Given the description of an element on the screen output the (x, y) to click on. 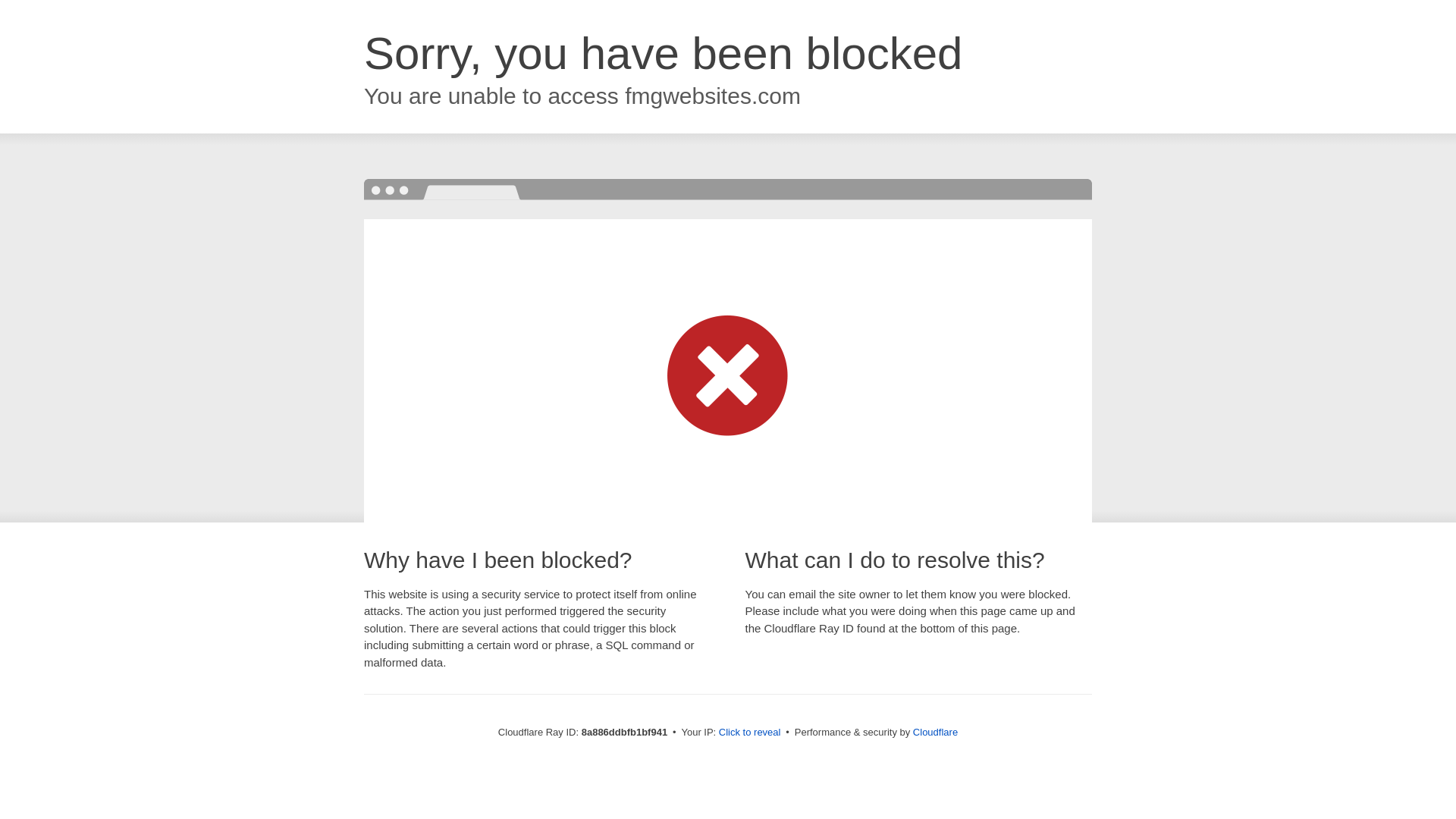
Click to reveal (749, 732)
Cloudflare (935, 731)
